Given the description of an element on the screen output the (x, y) to click on. 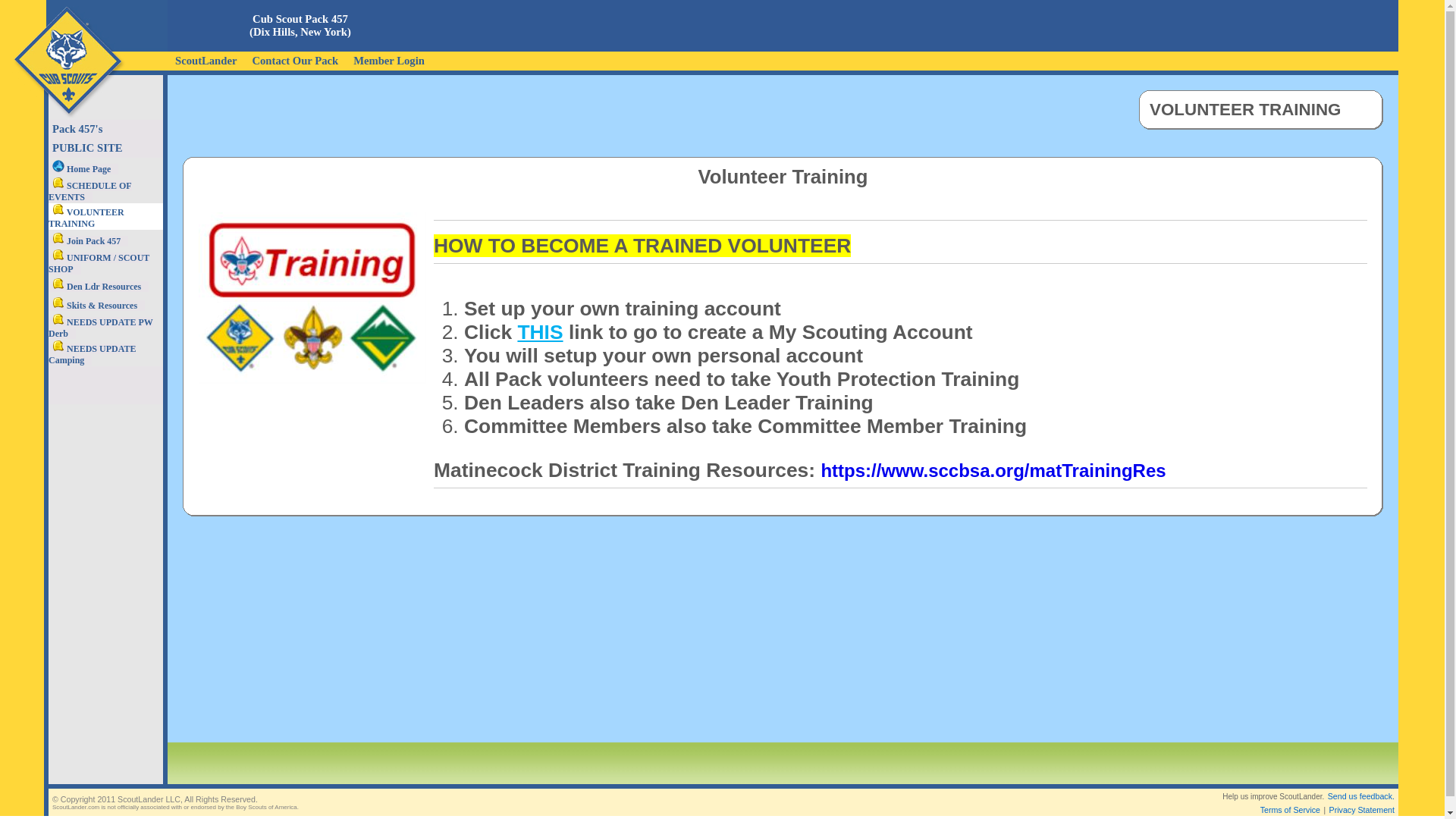
Join Pack 457 (88, 240)
Home Page (82, 168)
Terms of Service (1290, 809)
VOLUNTEER TRAINING (85, 218)
Den Ldr Resources (98, 285)
Contact Our Pack (295, 58)
VOLUNTEER TRAINING (1260, 109)
NEEDS UPDATE Camping (91, 354)
NEEDS UPDATE PW Derb (100, 327)
ScoutLander (205, 58)
